Given the description of an element on the screen output the (x, y) to click on. 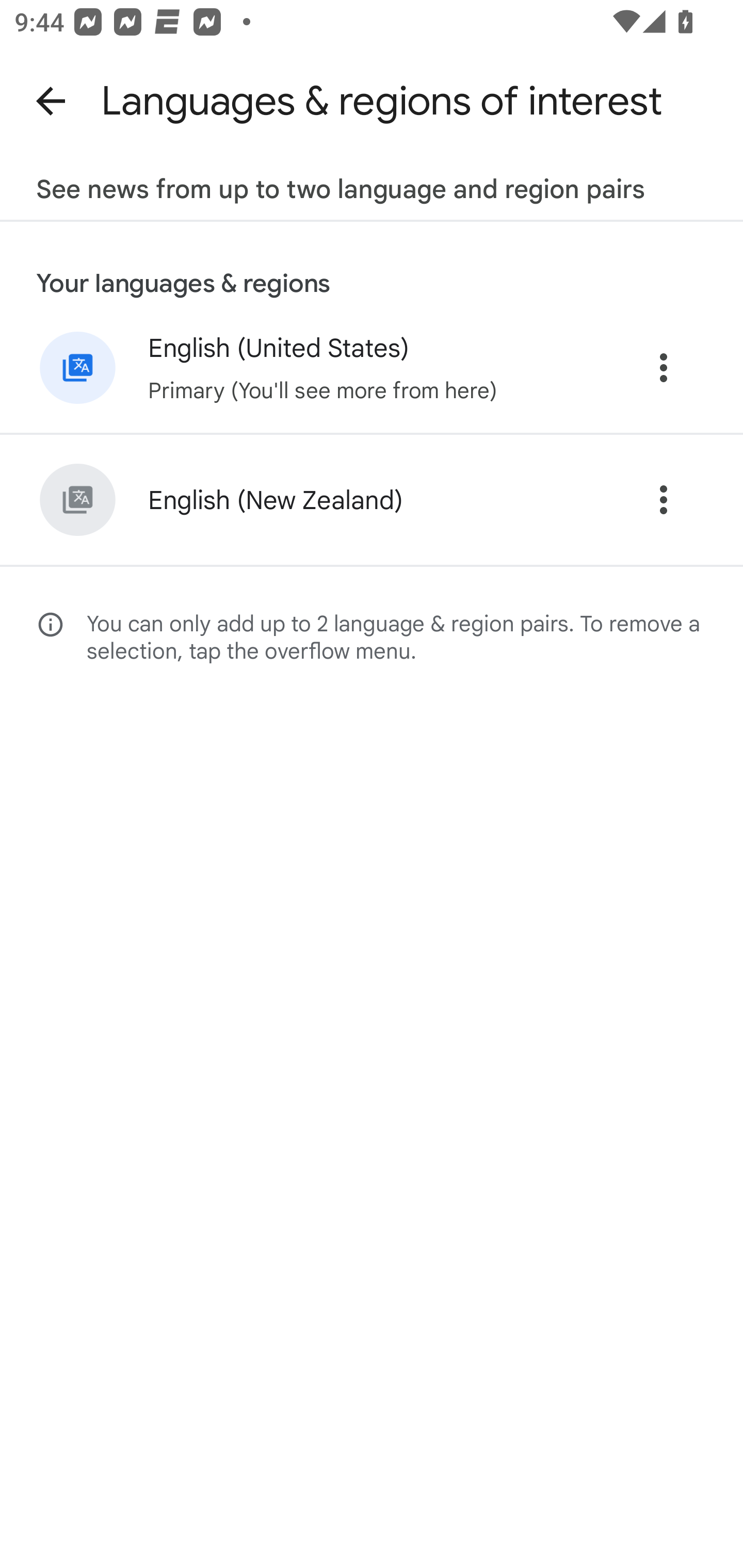
Navigate up (50, 101)
More options (663, 367)
English (New Zealand) More options (371, 499)
More options (663, 499)
